Given the description of an element on the screen output the (x, y) to click on. 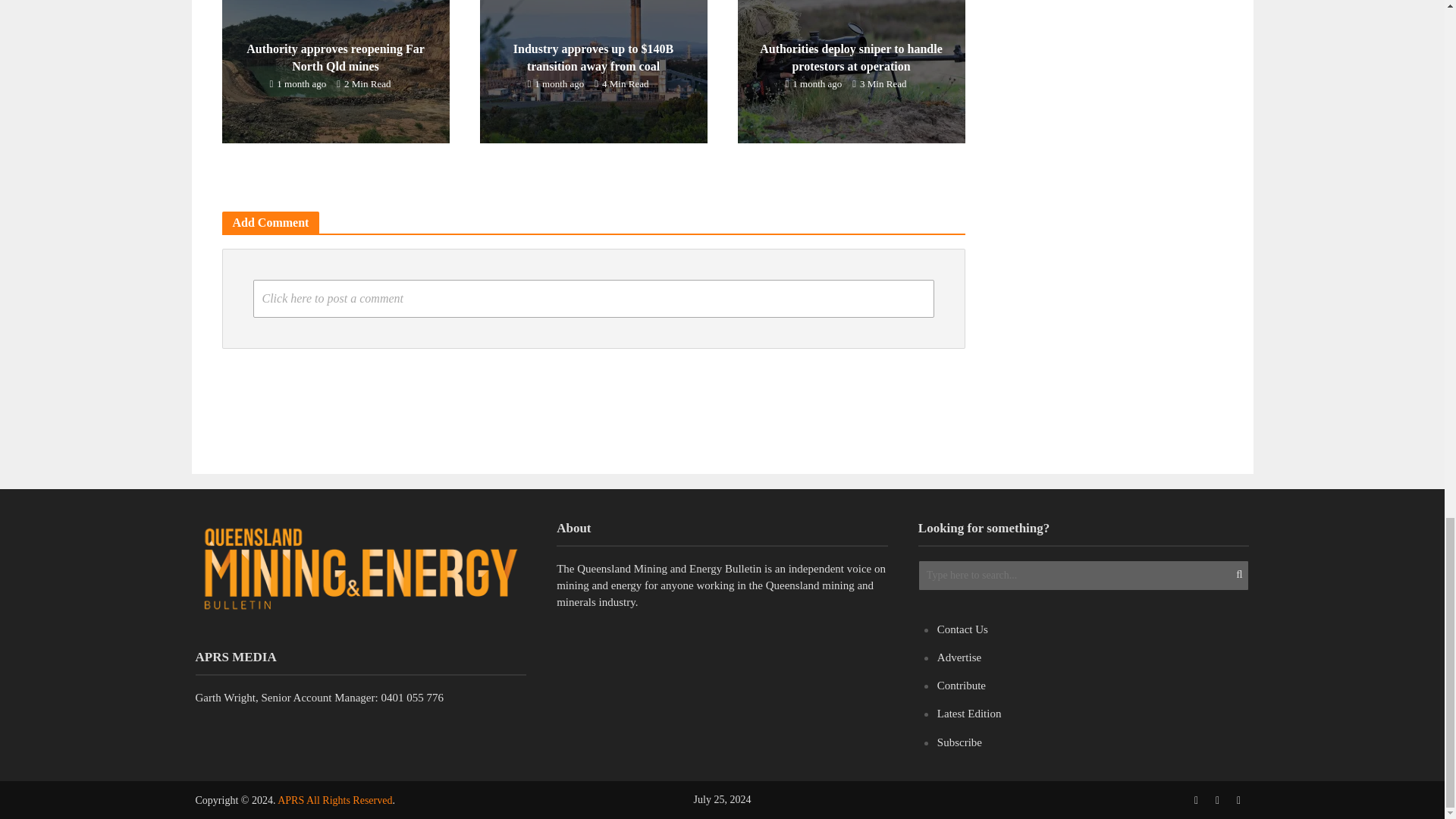
Authority approves reopening Far North Qld mines (334, 65)
Authorities deploy sniper to handle protestors at operation (849, 65)
